Given the description of an element on the screen output the (x, y) to click on. 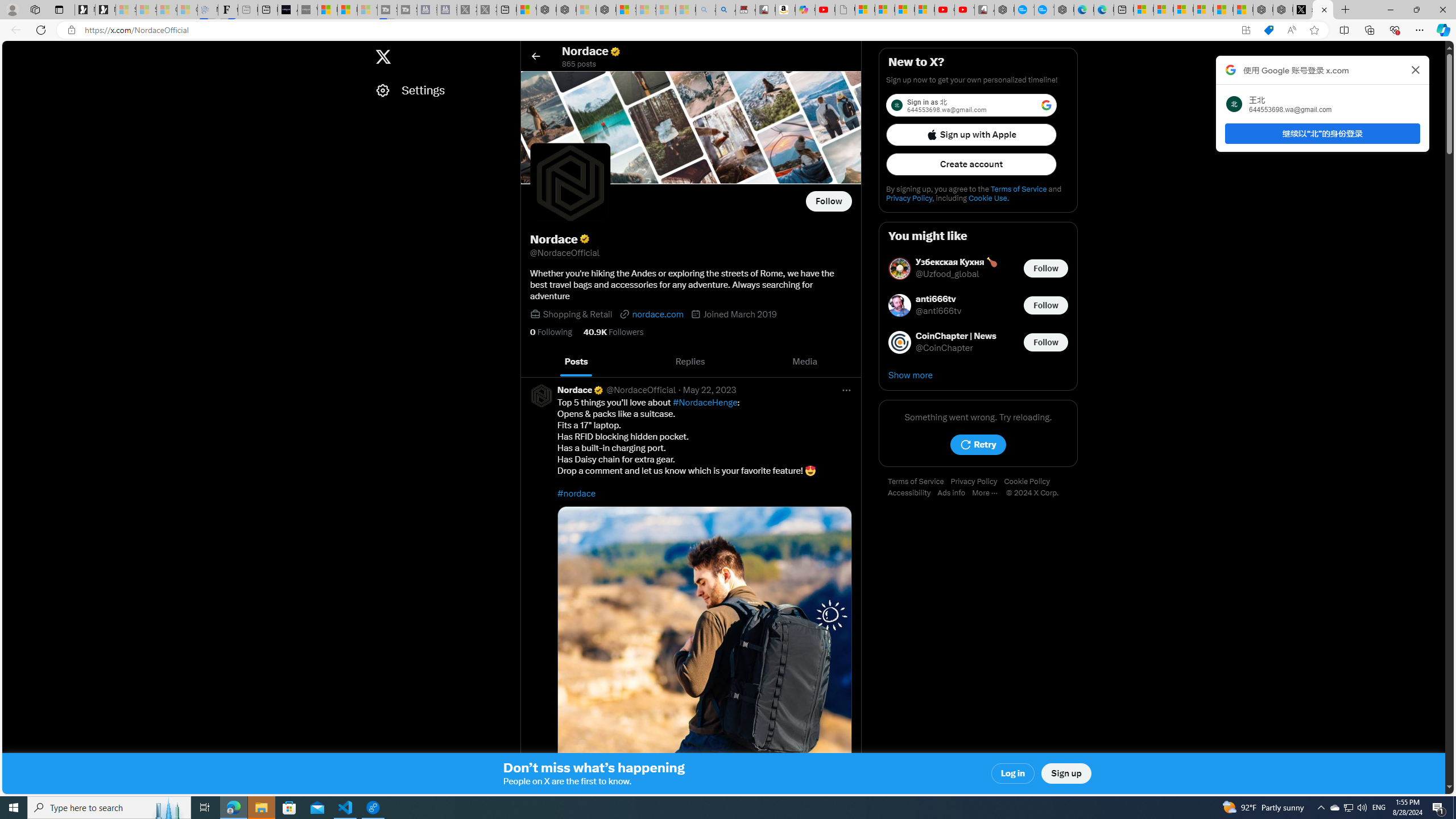
@CoinChapter (943, 348)
#nordace (576, 493)
Skip to home timeline (12, 50)
Sign up (1066, 773)
anti666tv (938, 299)
@Uzfood_global (947, 274)
